Given the description of an element on the screen output the (x, y) to click on. 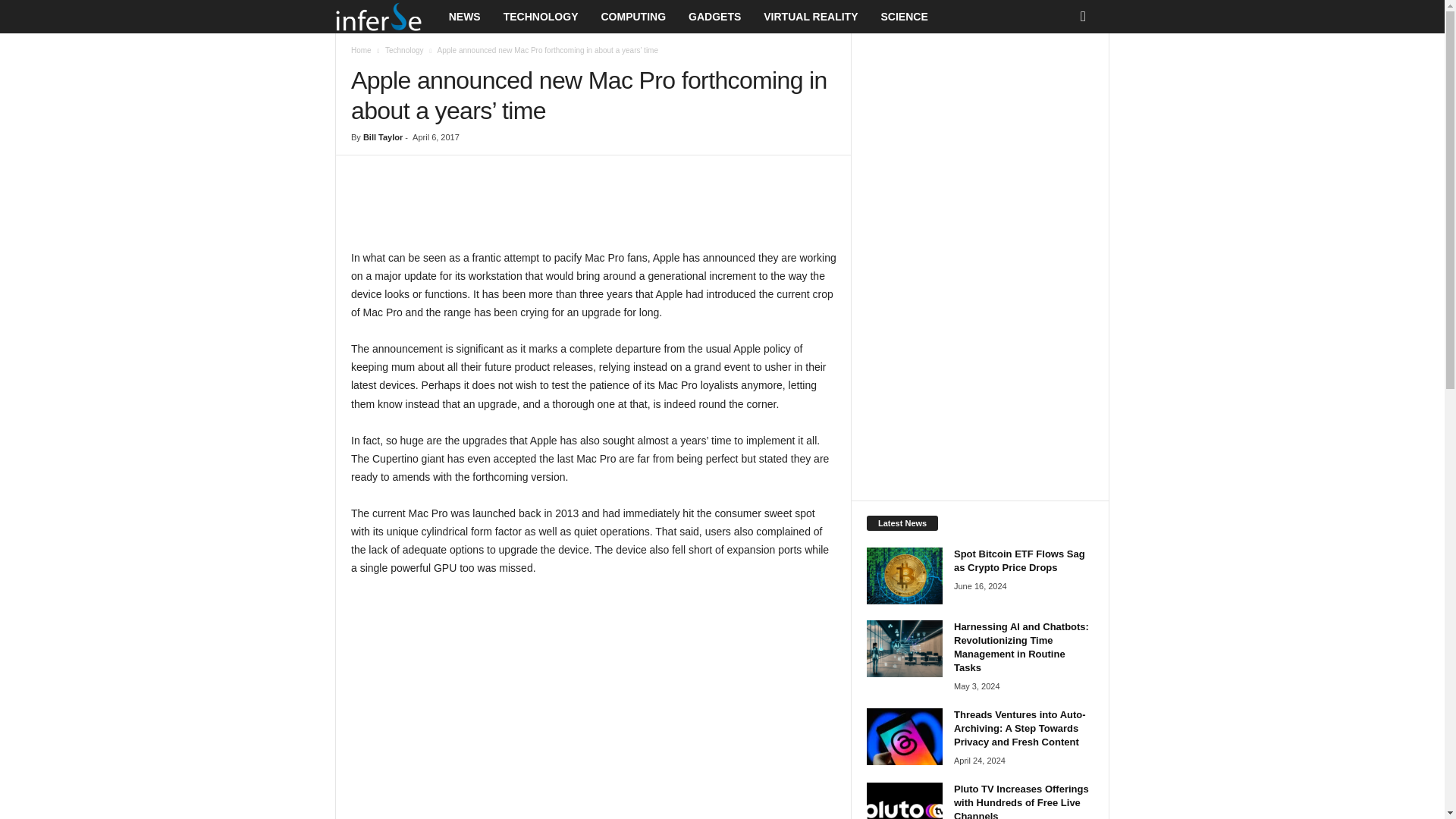
COMPUTING (633, 16)
SCIENCE (904, 16)
Inferse (378, 16)
Home (360, 49)
Inferse.com (386, 17)
Advertisement (593, 208)
GADGETS (714, 16)
View all posts in Technology (404, 49)
Bill Taylor (382, 136)
TECHNOLOGY (540, 16)
VIRTUAL REALITY (810, 16)
Technology (404, 49)
NEWS (465, 16)
Advertisement (592, 701)
